Given the description of an element on the screen output the (x, y) to click on. 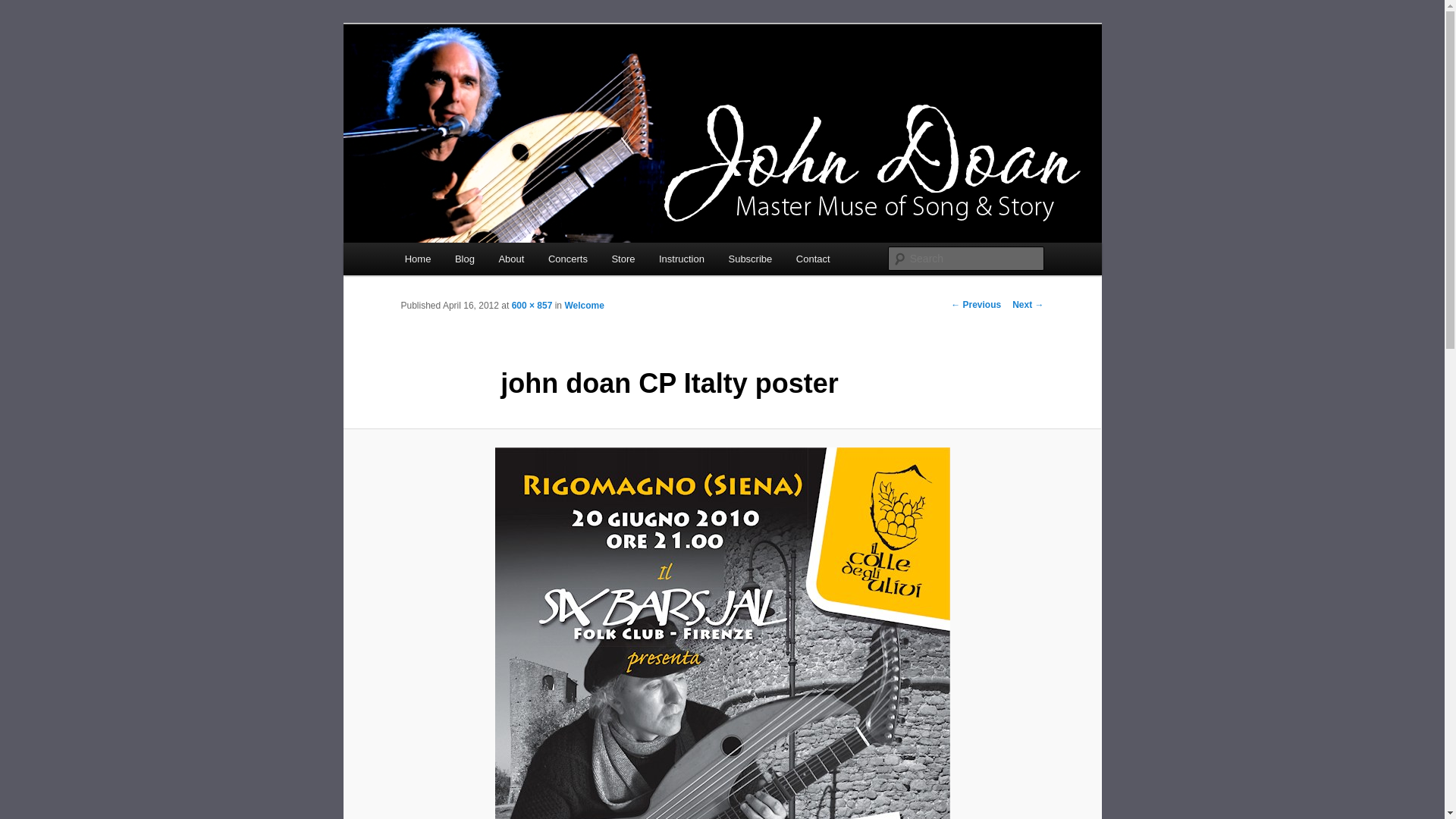
Buy CDs, DVDs, Musical Instruments, Sheet Music (623, 258)
1:34 pm (470, 305)
Store (623, 258)
Blog (464, 258)
Go to Welcome (584, 305)
About (510, 258)
Concerts (567, 258)
Search (24, 8)
Link to full-size image (532, 305)
Home (417, 258)
